Given the description of an element on the screen output the (x, y) to click on. 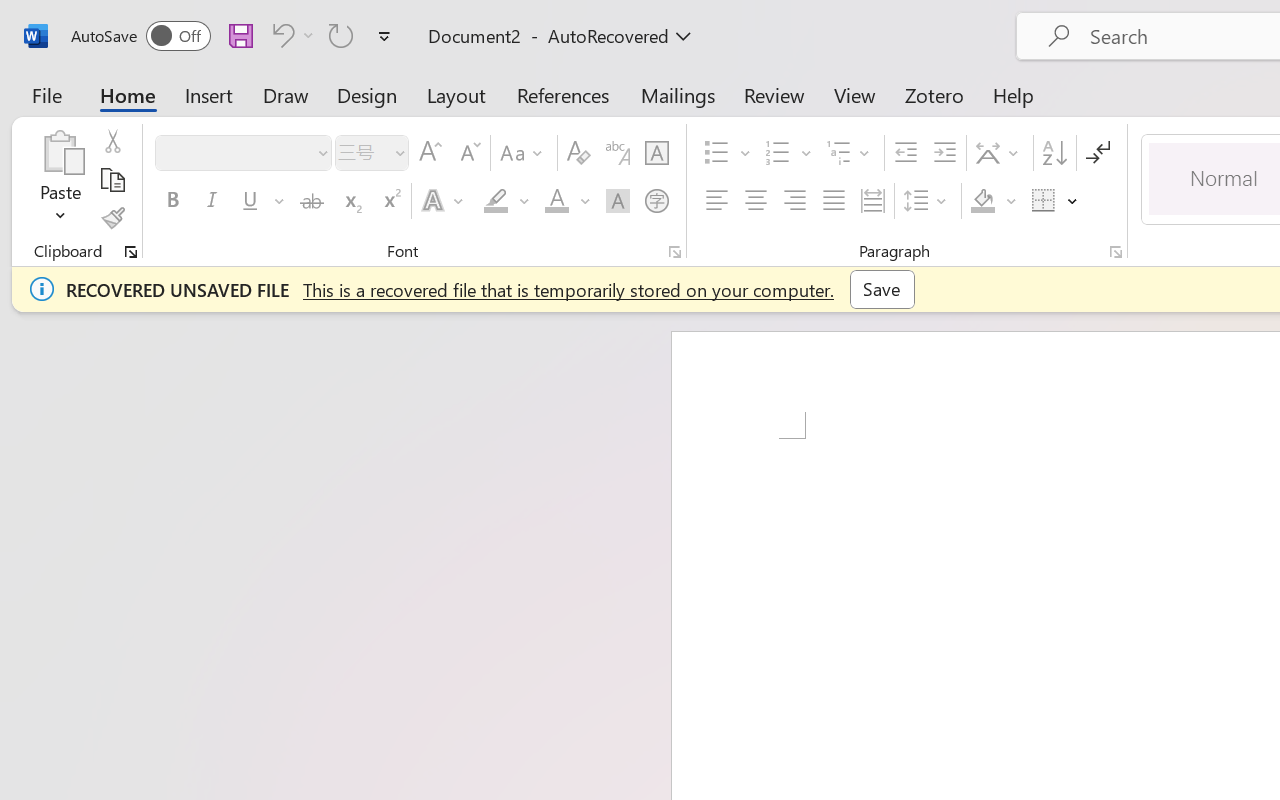
Font... (675, 252)
Can't Undo (280, 35)
Sort... (1054, 153)
Justify (834, 201)
Line and Paragraph Spacing (927, 201)
Center (756, 201)
Cut (112, 141)
Shrink Font (468, 153)
Shading RGB(0, 0, 0) (982, 201)
Show/Hide Editing Marks (1098, 153)
Align Left (716, 201)
